Given the description of an element on the screen output the (x, y) to click on. 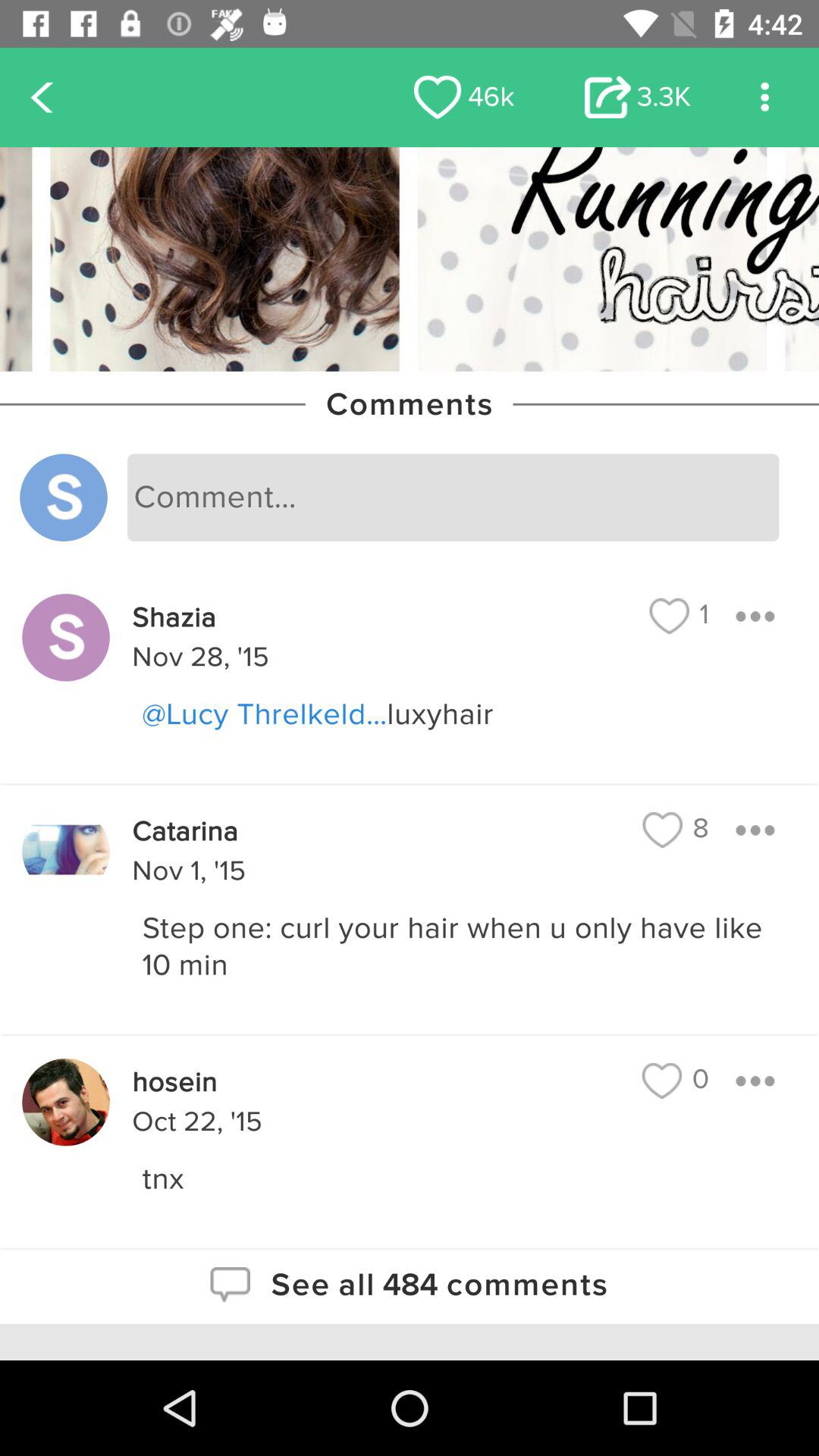
add something (755, 830)
